Given the description of an element on the screen output the (x, y) to click on. 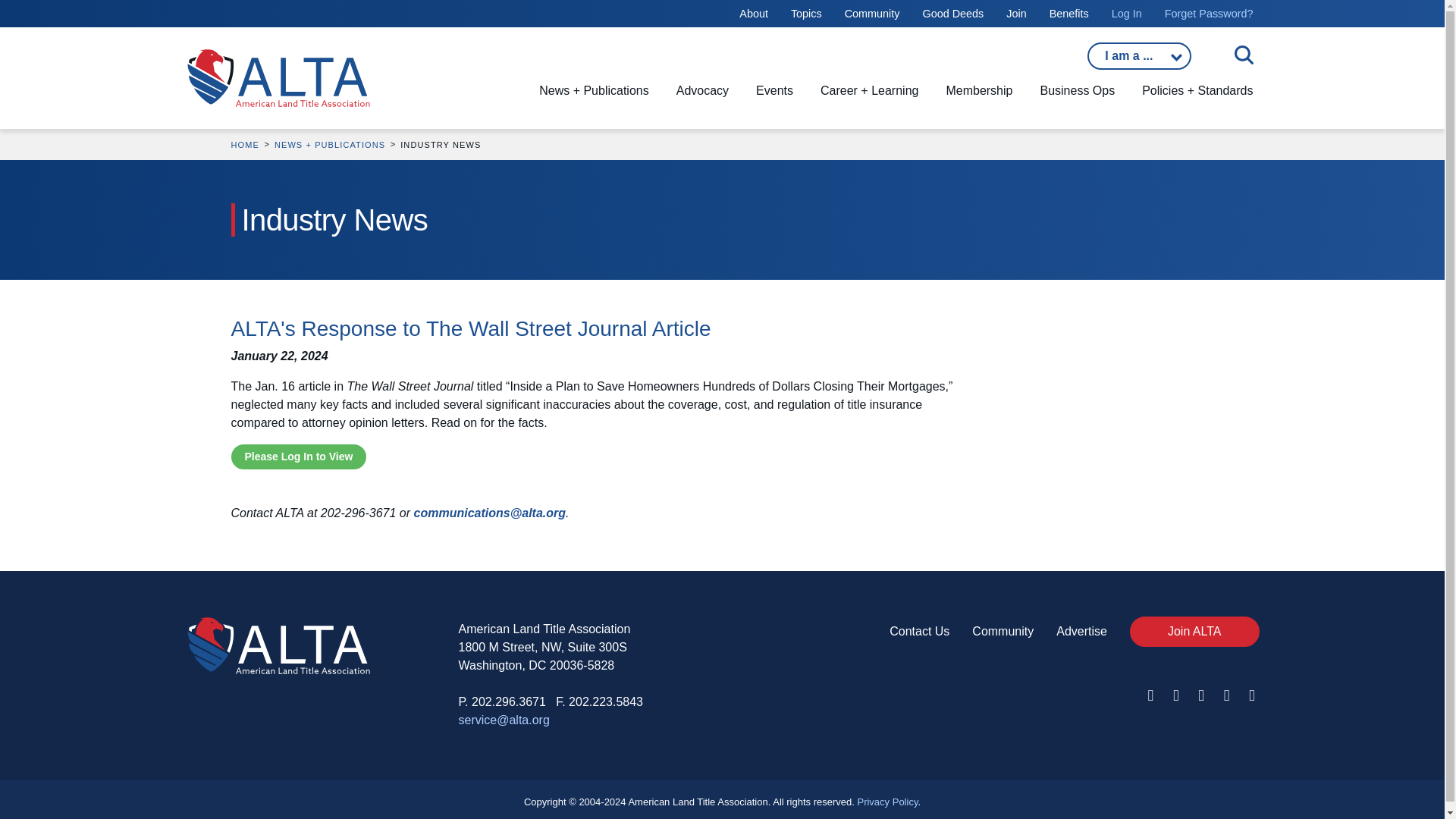
Community (871, 13)
Topics (806, 13)
Search (372, 47)
About (753, 13)
Log In (1126, 13)
Forget Password? (1208, 13)
Benefits (1069, 13)
Join (1016, 13)
I am a ... (1139, 55)
Good Deeds (952, 13)
